Given the description of an element on the screen output the (x, y) to click on. 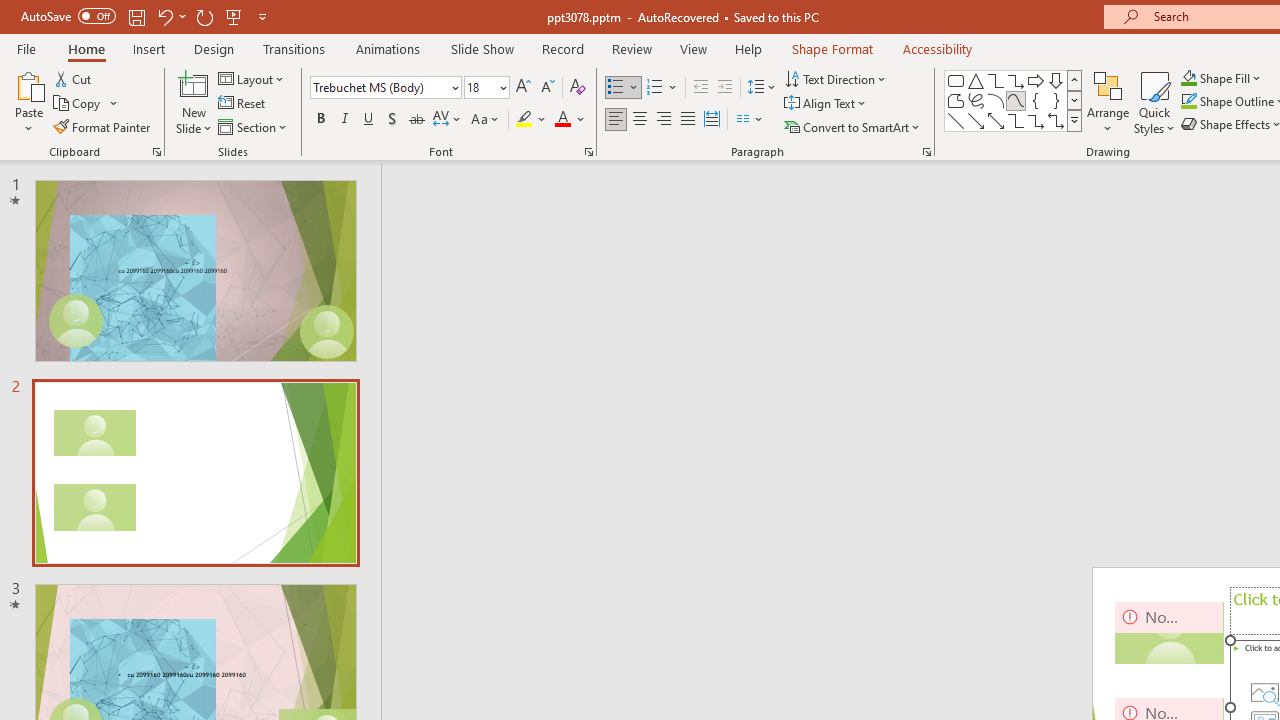
Shape Outline Green, Accent 1 (1188, 101)
